Given the description of an element on the screen output the (x, y) to click on. 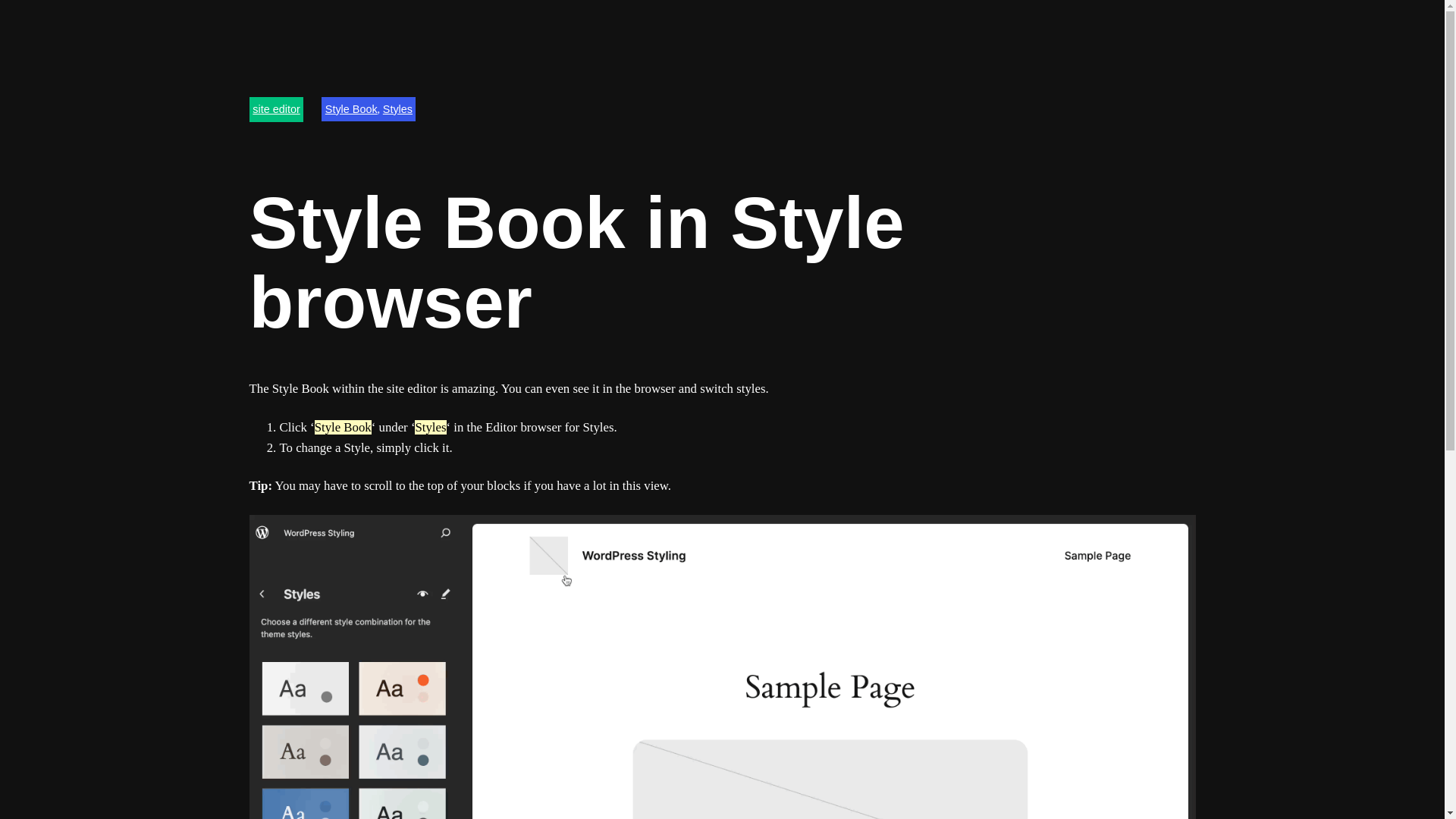
Style Book (350, 109)
Styles (397, 109)
site editor (275, 109)
